Given the description of an element on the screen output the (x, y) to click on. 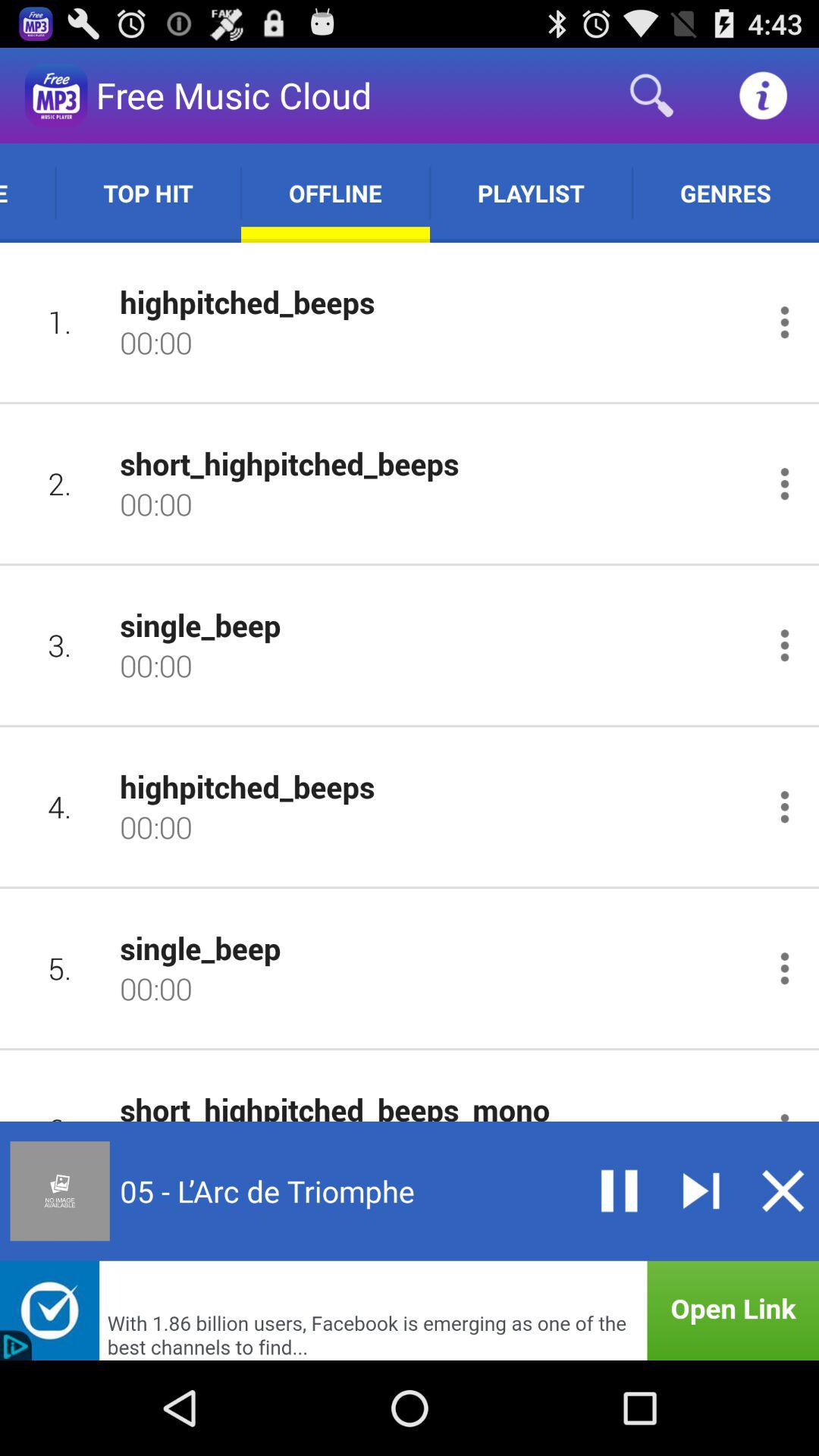
expand options (784, 968)
